Given the description of an element on the screen output the (x, y) to click on. 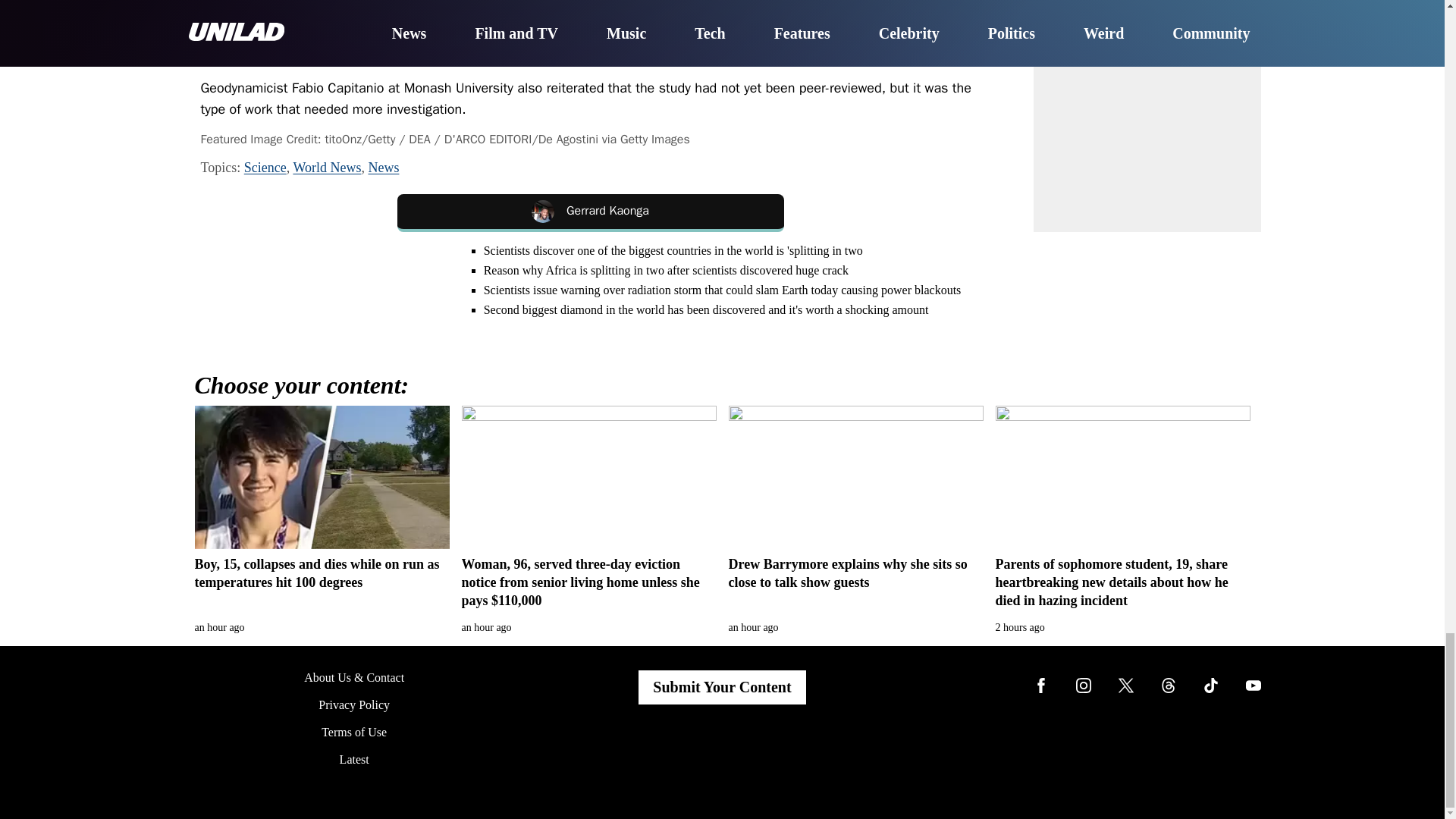
World News (326, 167)
Science (265, 167)
News (383, 167)
